Given the description of an element on the screen output the (x, y) to click on. 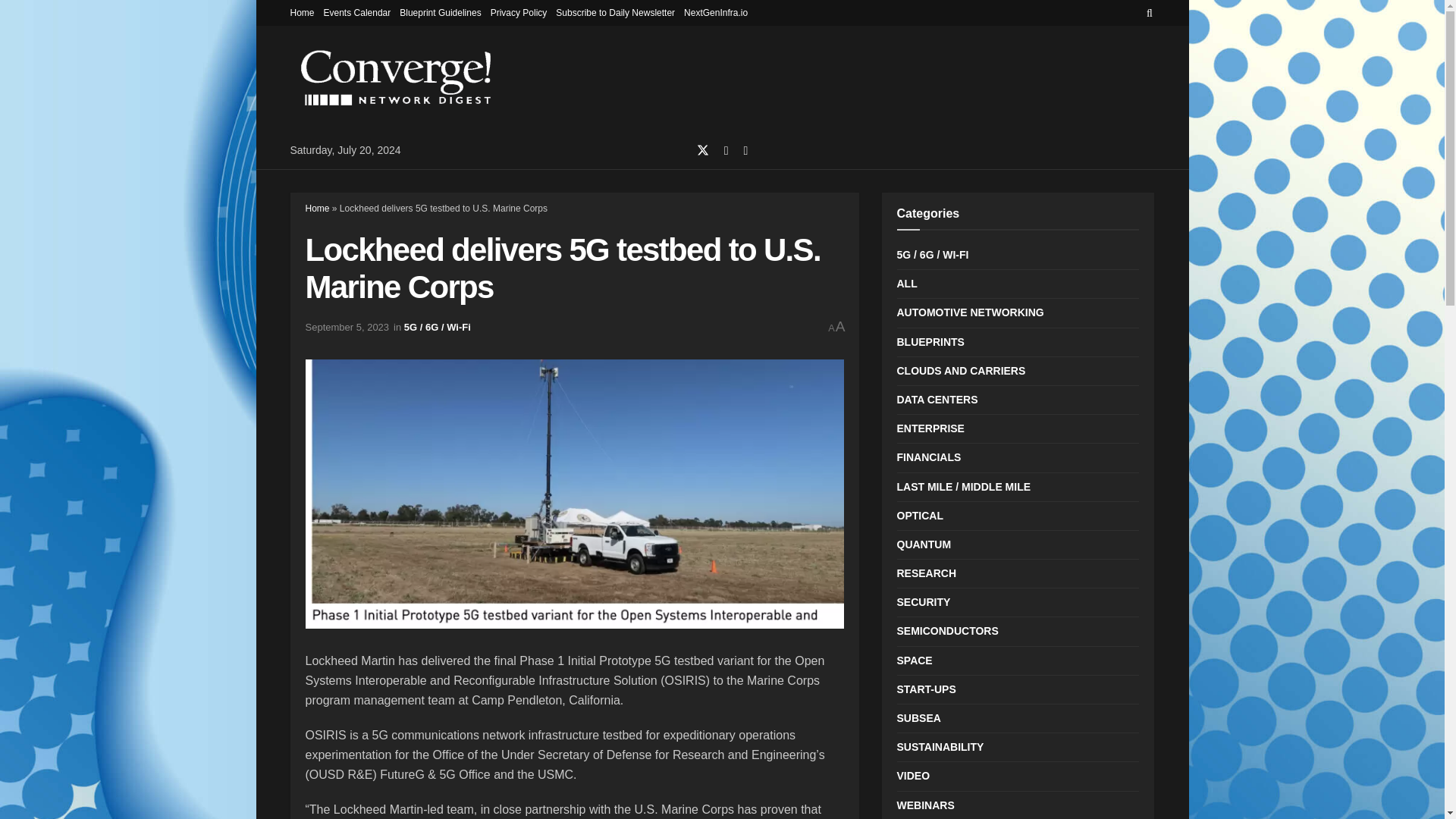
Home (316, 208)
Subscribe to Daily Newsletter (615, 12)
NextGenInfra.io (716, 12)
Blueprint Guidelines (439, 12)
Events Calendar (357, 12)
Privacy Policy (518, 12)
September 5, 2023 (346, 326)
Home (301, 12)
